Given the description of an element on the screen output the (x, y) to click on. 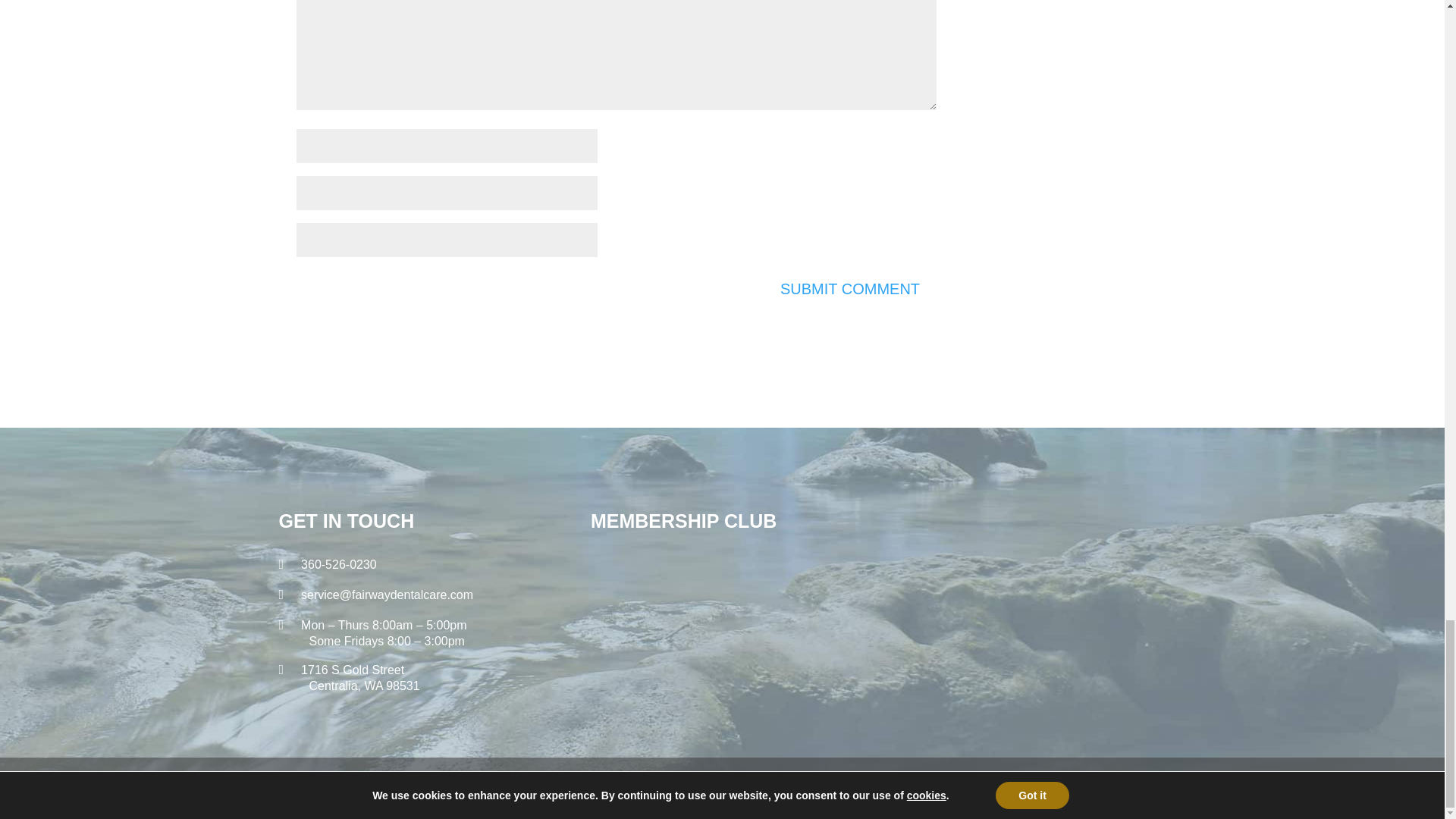
Submit Comment (849, 288)
Submit Comment (849, 288)
